Given the description of an element on the screen output the (x, y) to click on. 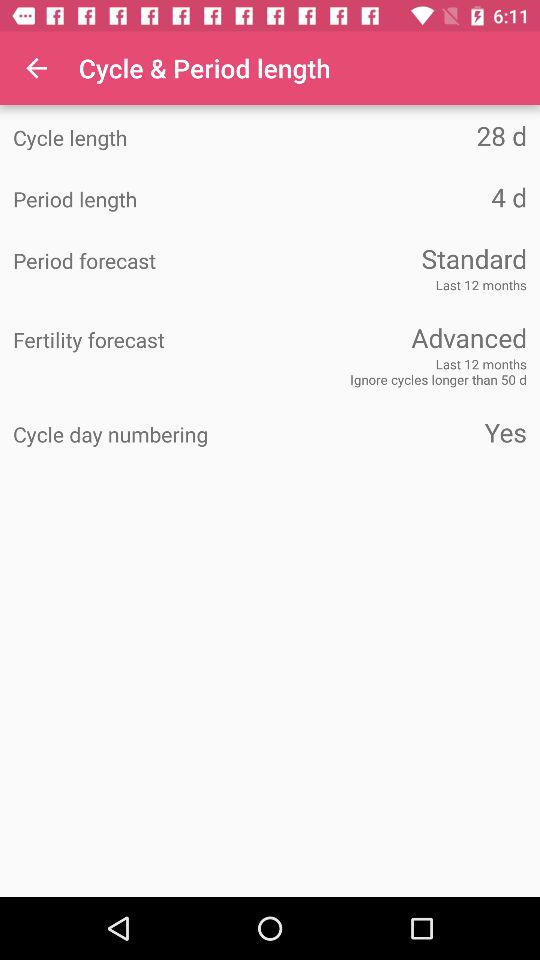
tap the item above the last 12 months item (398, 258)
